Given the description of an element on the screen output the (x, y) to click on. 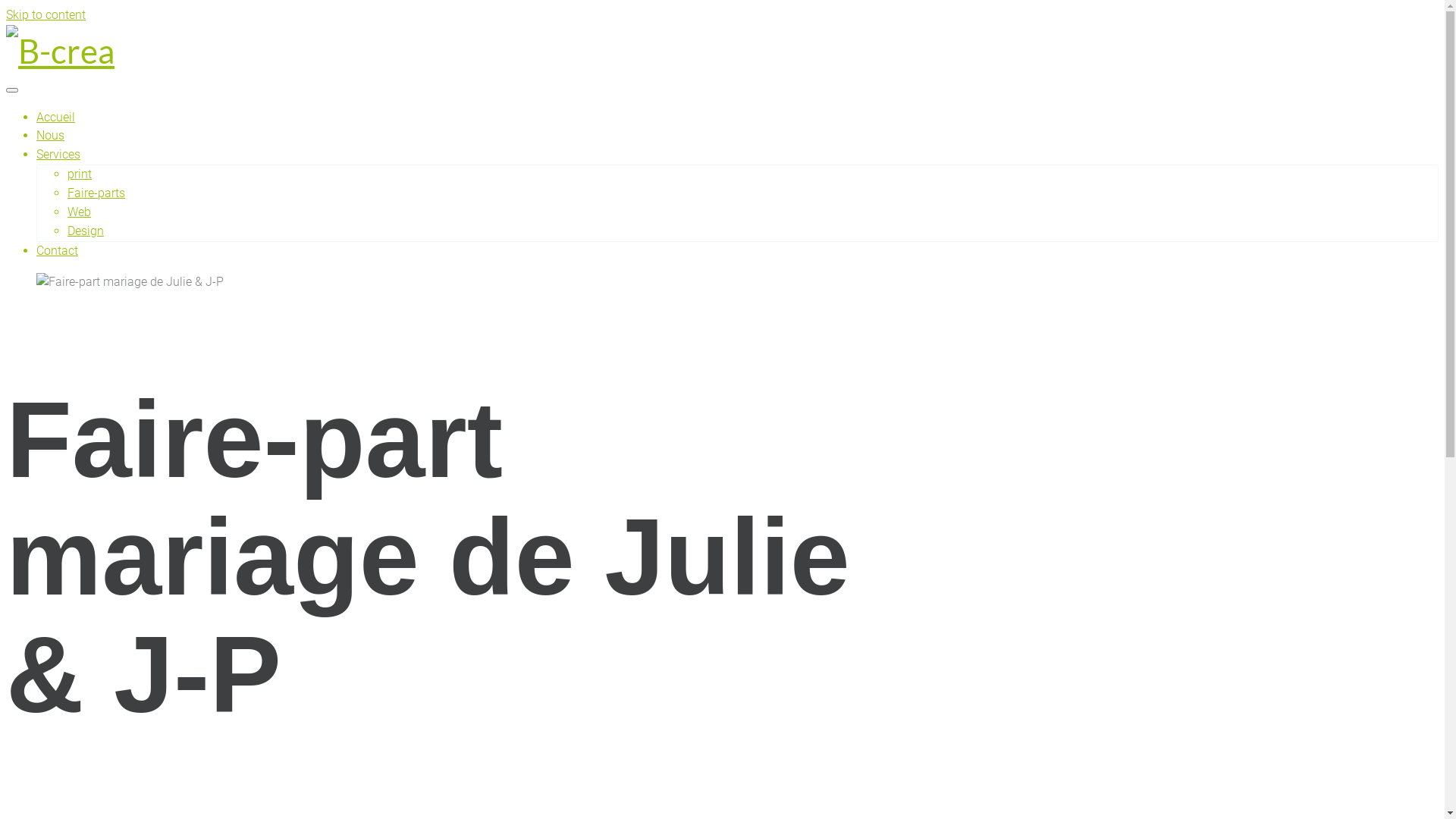
Contact Element type: text (57, 250)
Web Element type: text (79, 211)
Skip to content Element type: text (45, 14)
Services Element type: text (58, 154)
print Element type: text (79, 173)
Faire-parts Element type: text (96, 192)
Nous Element type: text (50, 135)
Design Element type: text (85, 230)
Accueil Element type: text (55, 116)
